Given the description of an element on the screen output the (x, y) to click on. 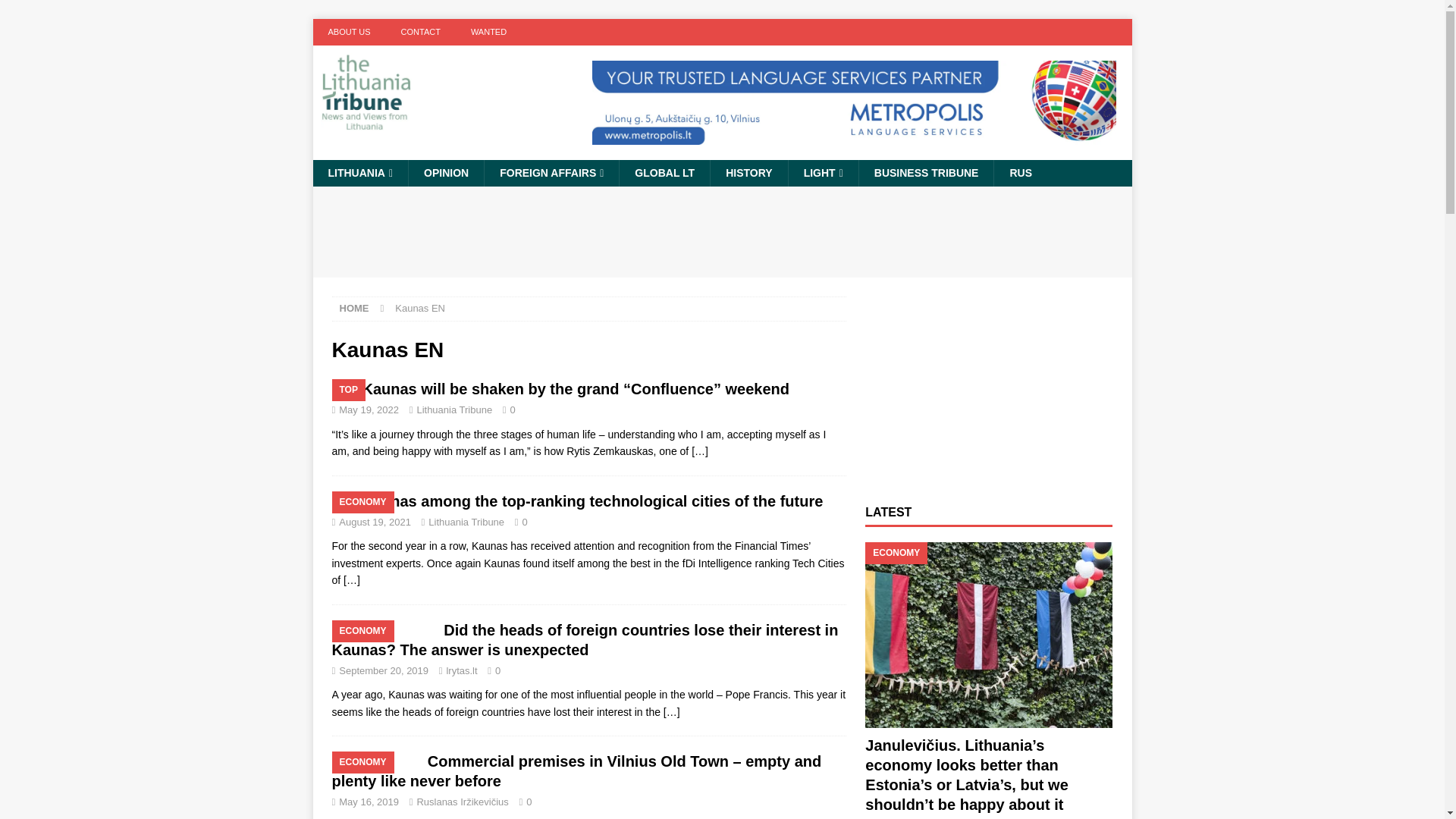
ABOUT US (349, 31)
LITHUANIA (360, 172)
WANTED (488, 31)
CONTACT (420, 31)
